Given the description of an element on the screen output the (x, y) to click on. 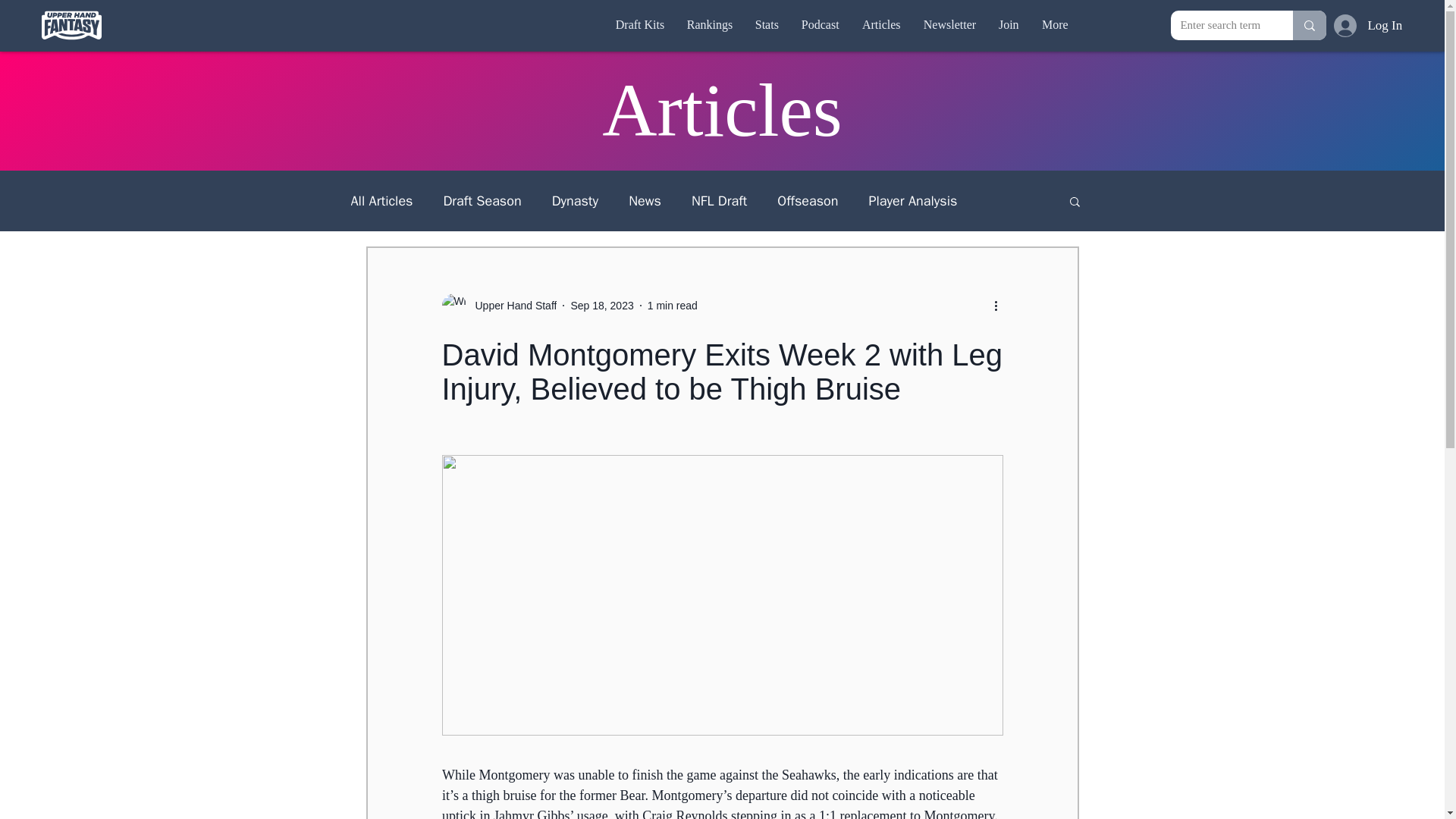
NFL Draft (718, 200)
Log In (1339, 24)
Sep 18, 2023 (601, 304)
Articles (881, 24)
Dynasty (574, 200)
All Articles (381, 200)
Join (1008, 24)
Upper Hand Staff (510, 304)
News (644, 200)
Upper Hand Staff (498, 305)
